Given the description of an element on the screen output the (x, y) to click on. 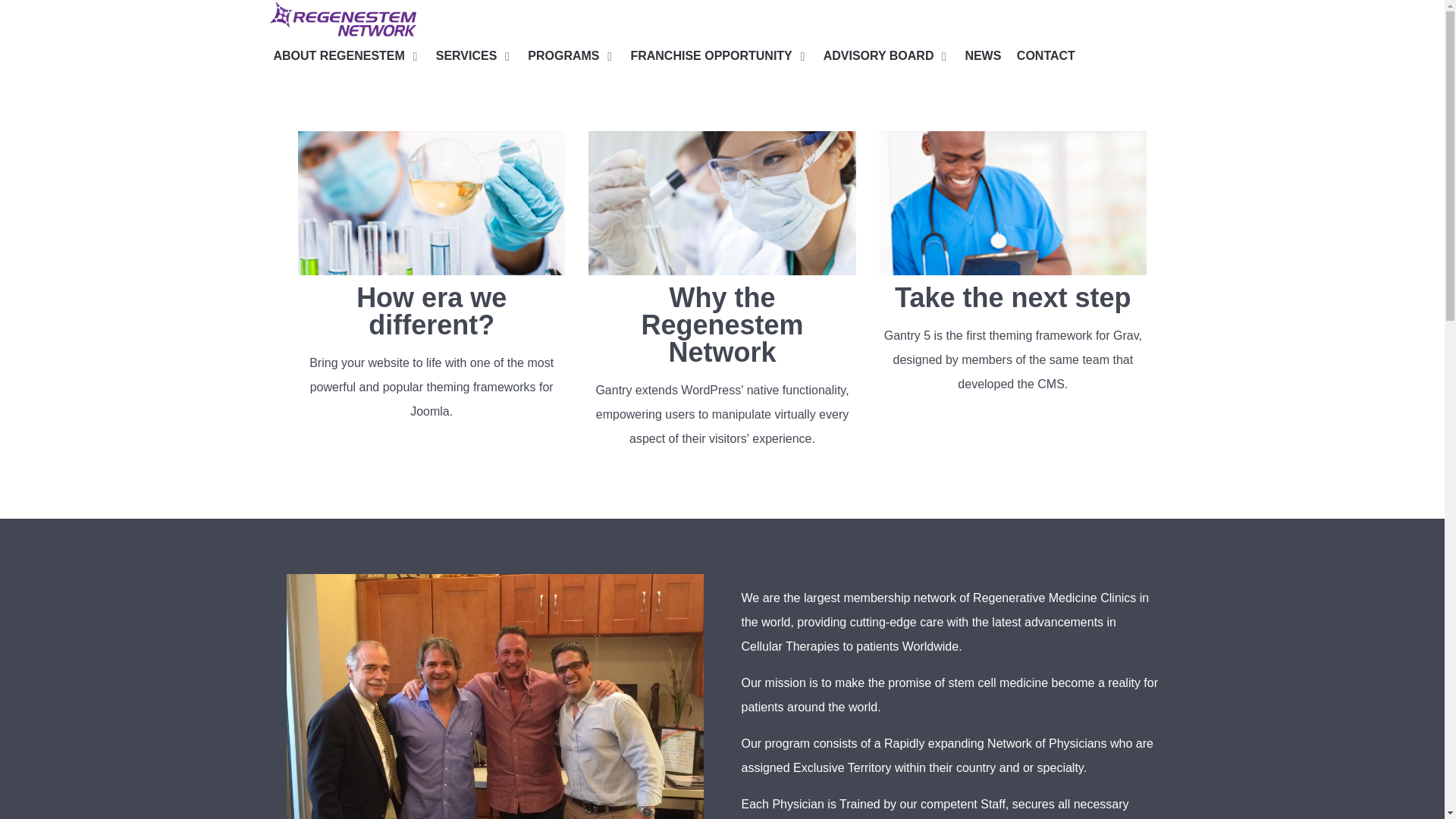
FRANCHISE OPPORTUNITY (719, 56)
PROGRAMS (570, 56)
SERVICES (473, 56)
NEWS (982, 56)
CONTACT (1045, 56)
ADVISORY BOARD (886, 56)
ABOUT REGENESTEM (346, 56)
